Given the description of an element on the screen output the (x, y) to click on. 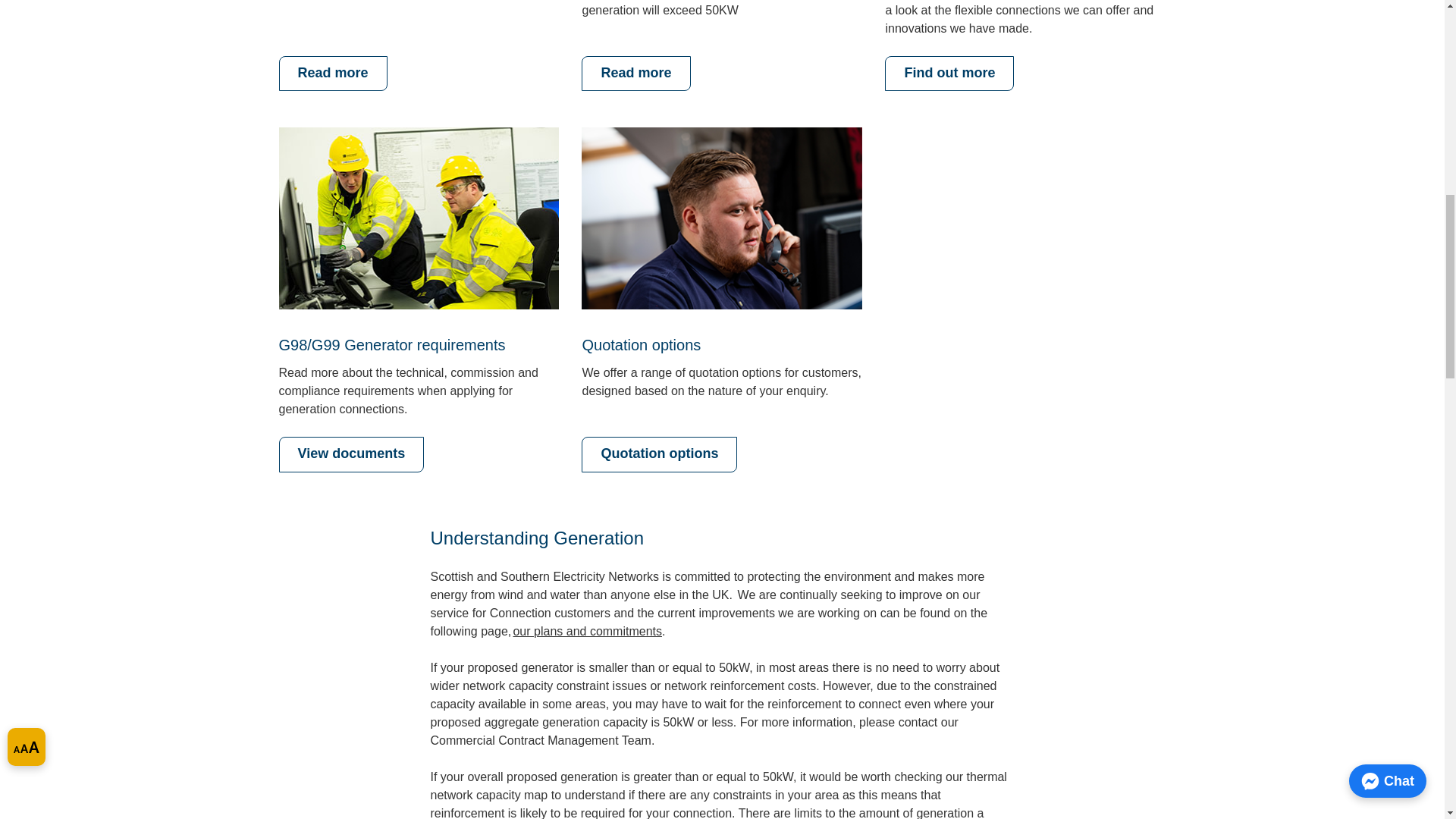
Quotation options (658, 454)
our plans and commitments (587, 631)
Read more (635, 73)
Find out more (949, 73)
Read more (333, 73)
View documents (352, 454)
